Given the description of an element on the screen output the (x, y) to click on. 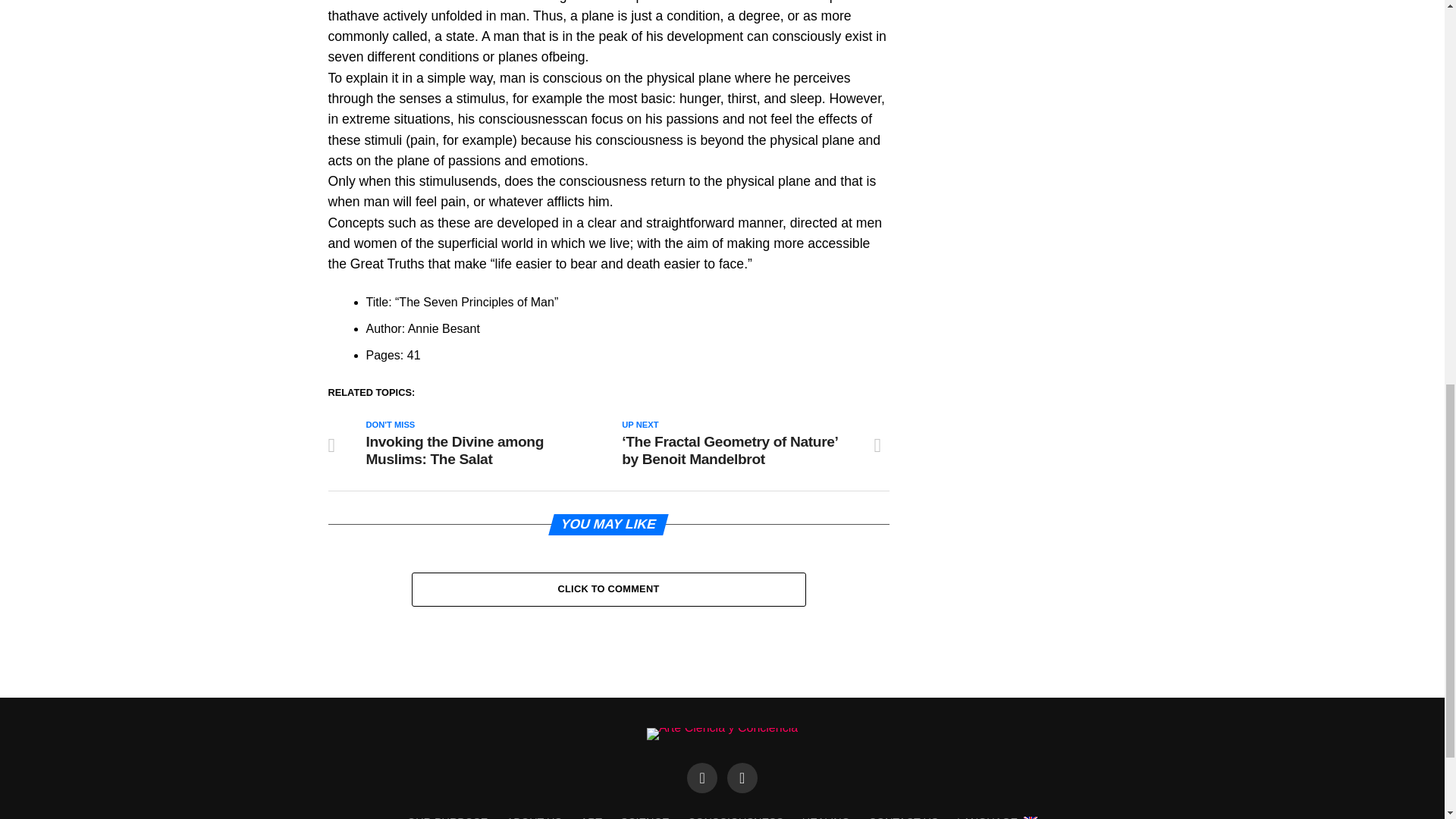
English (996, 817)
